Given the description of an element on the screen output the (x, y) to click on. 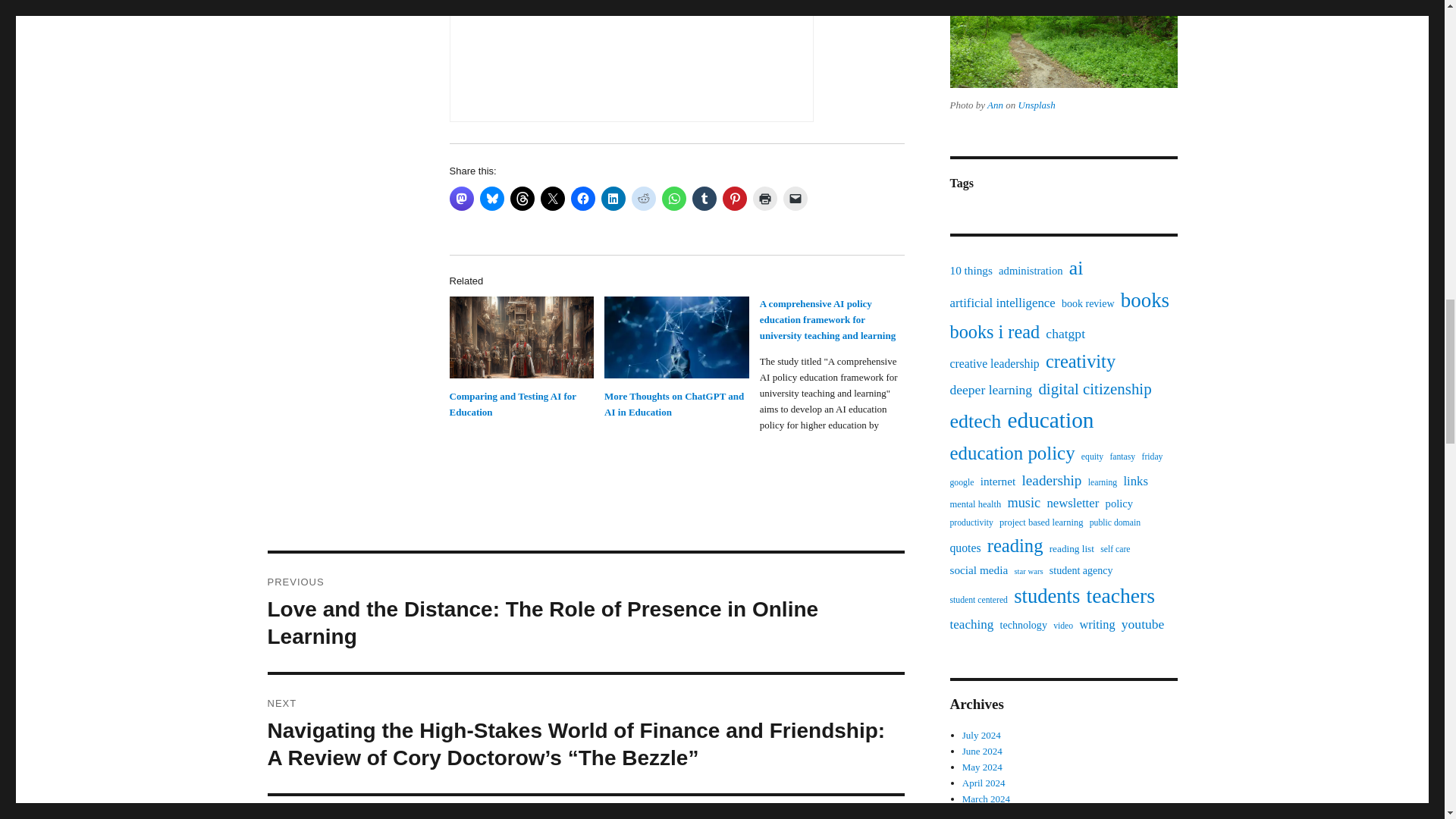
More Thoughts on ChatGPT and AI in Education (674, 403)
Comparing and Testing AI for Education (511, 403)
Comparing and Testing AI for Education (511, 403)
More Thoughts on ChatGPT and AI in Education (674, 403)
Comparing and Testing AI for Education (521, 337)
More Thoughts on ChatGPT and AI in Education (676, 337)
